Given the description of an element on the screen output the (x, y) to click on. 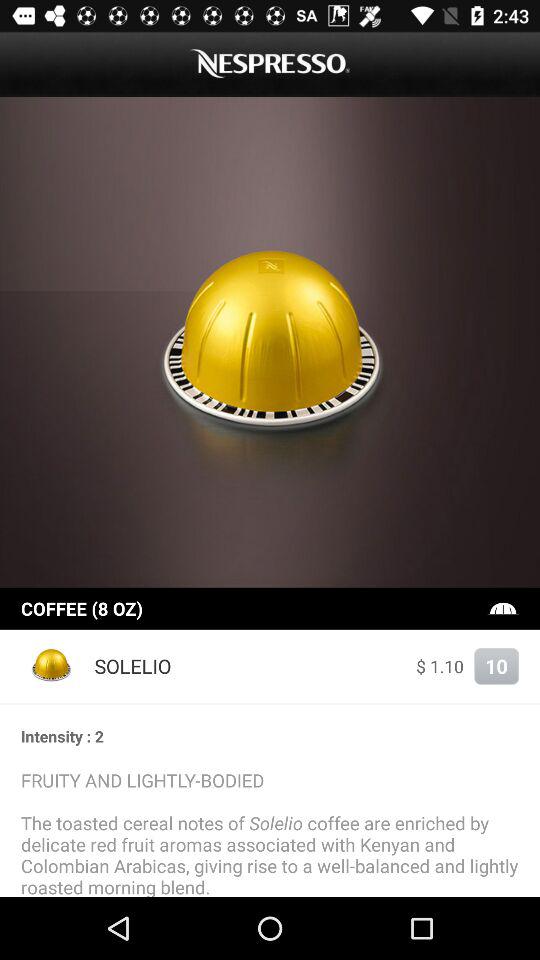
jump to fruity and lightly icon (270, 832)
